Given the description of an element on the screen output the (x, y) to click on. 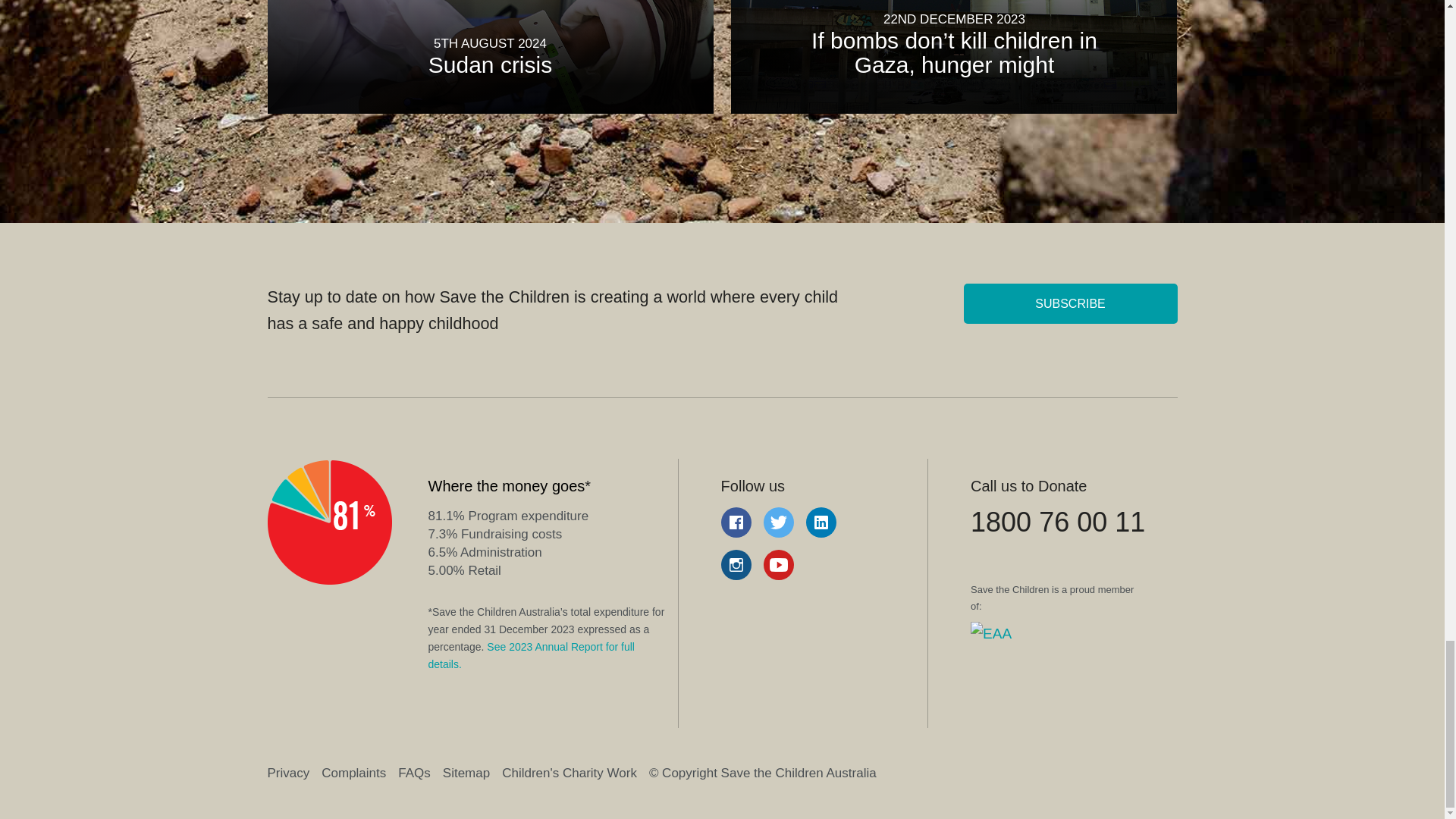
Linkedin (820, 521)
Instagram (735, 564)
Facebook (735, 521)
Youtube (777, 564)
Twitter (777, 521)
